Given the description of an element on the screen output the (x, y) to click on. 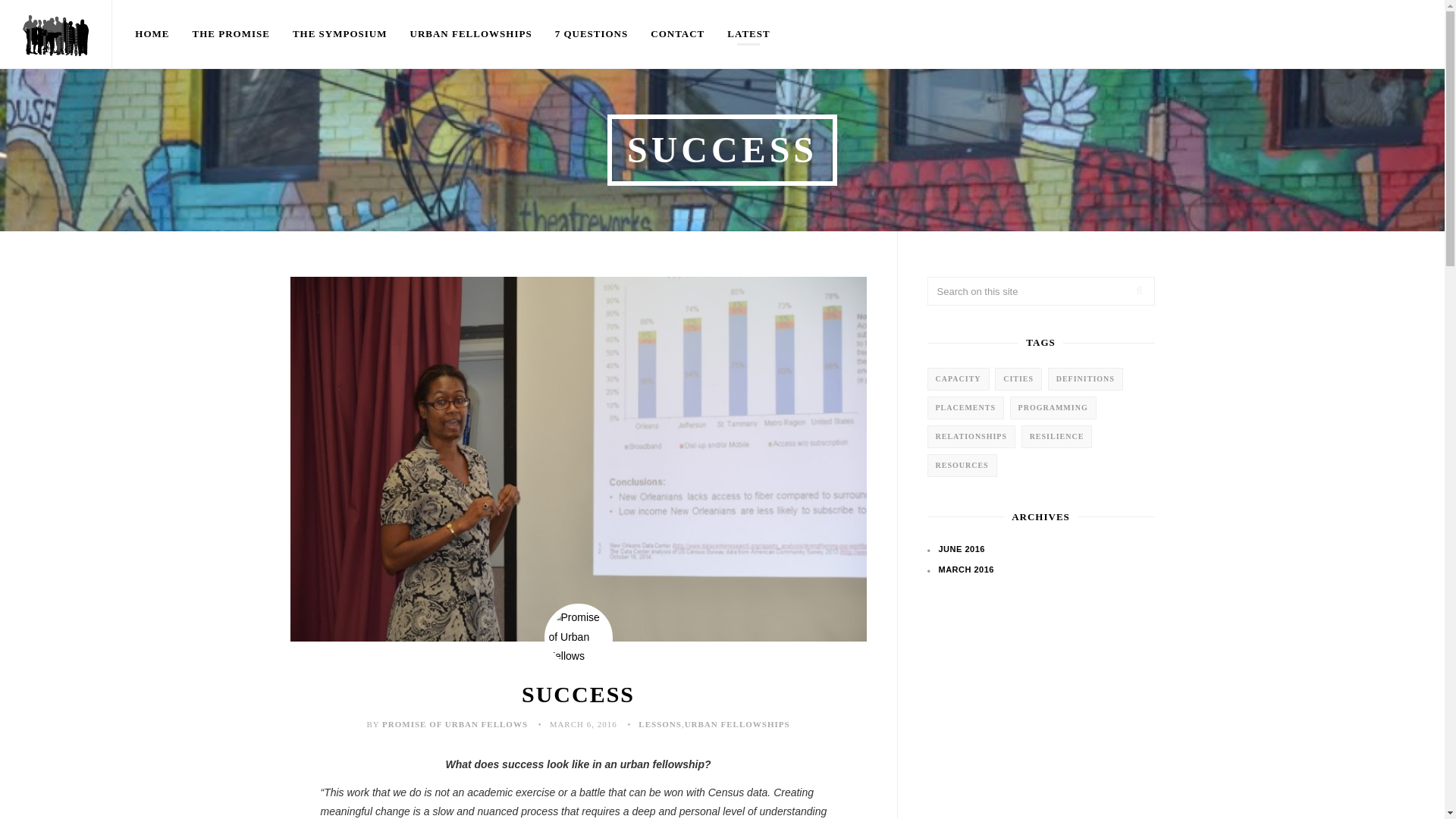
LATEST (748, 33)
LESSONS (660, 723)
THE PROMISE (230, 33)
PROMISE OF URBAN FELLOWS (454, 723)
7 QUESTIONS (591, 33)
THE SYMPOSIUM (339, 33)
HOME (151, 33)
CONTACT (677, 33)
URBAN FELLOWSHIPS (470, 33)
URBAN FELLOWSHIPS (737, 723)
